Given the description of an element on the screen output the (x, y) to click on. 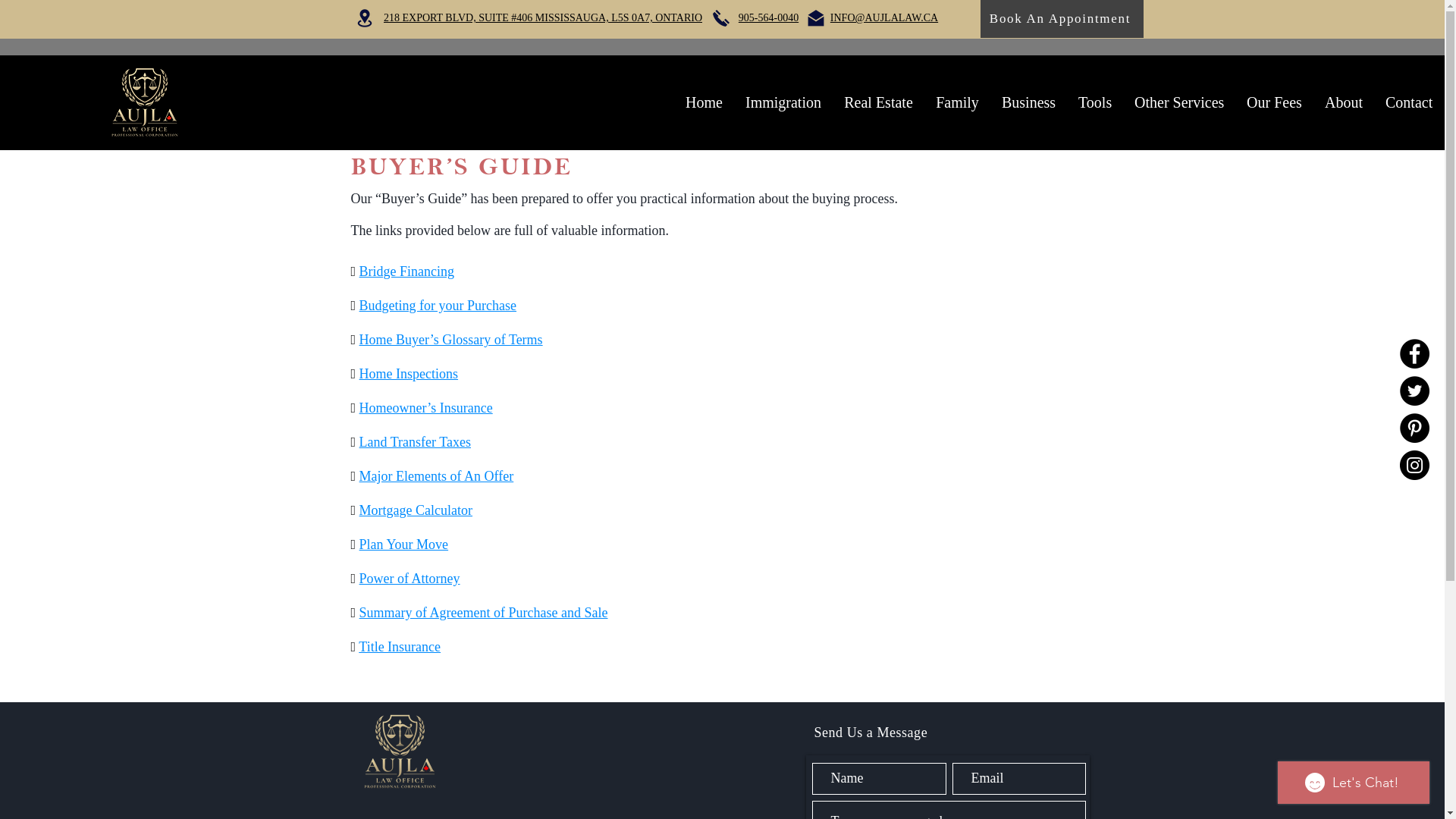
About Element type: text (1343, 102)
Home Element type: text (704, 102)
Business Element type: text (1028, 102)
Our Fees Element type: text (1274, 102)
Mortgage Calculator Element type: text (415, 509)
Family Element type: text (957, 102)
  Element type: text (357, 407)
Plan Your Move Element type: text (403, 544)
Major Elements of An Offer Element type: text (436, 475)
  Element type: text (357, 441)
  Element type: text (357, 475)
Real Estate Element type: text (878, 102)
Bridge Financing Element type: text (406, 271)
INFO@AUJLALAW.CA Element type: text (884, 17)
  Element type: text (357, 339)
  Element type: text (357, 271)
Book An Appointment Element type: text (1060, 18)
Contact Element type: text (1408, 102)
905-564-0040 Element type: text (768, 17)
  Element type: text (357, 373)
  Element type: text (357, 612)
  Element type: text (356, 646)
Summary of Agreement of Purchase and Sale Element type: text (483, 612)
218 EXPORT BLVD, SUITE #406 MISSISSAUGA, L5S 0A7, ONTARIO Element type: text (542, 17)
Power of Attorney Element type: text (409, 578)
  Element type: text (357, 509)
Land Transfer Taxes Element type: text (414, 441)
Home Inspections Element type: text (408, 373)
  Element type: text (357, 544)
Budgeting for your Purchase Element type: text (437, 305)
Title Insurance Element type: text (399, 646)
  Element type: text (357, 305)
  Element type: text (357, 578)
